Given the description of an element on the screen output the (x, y) to click on. 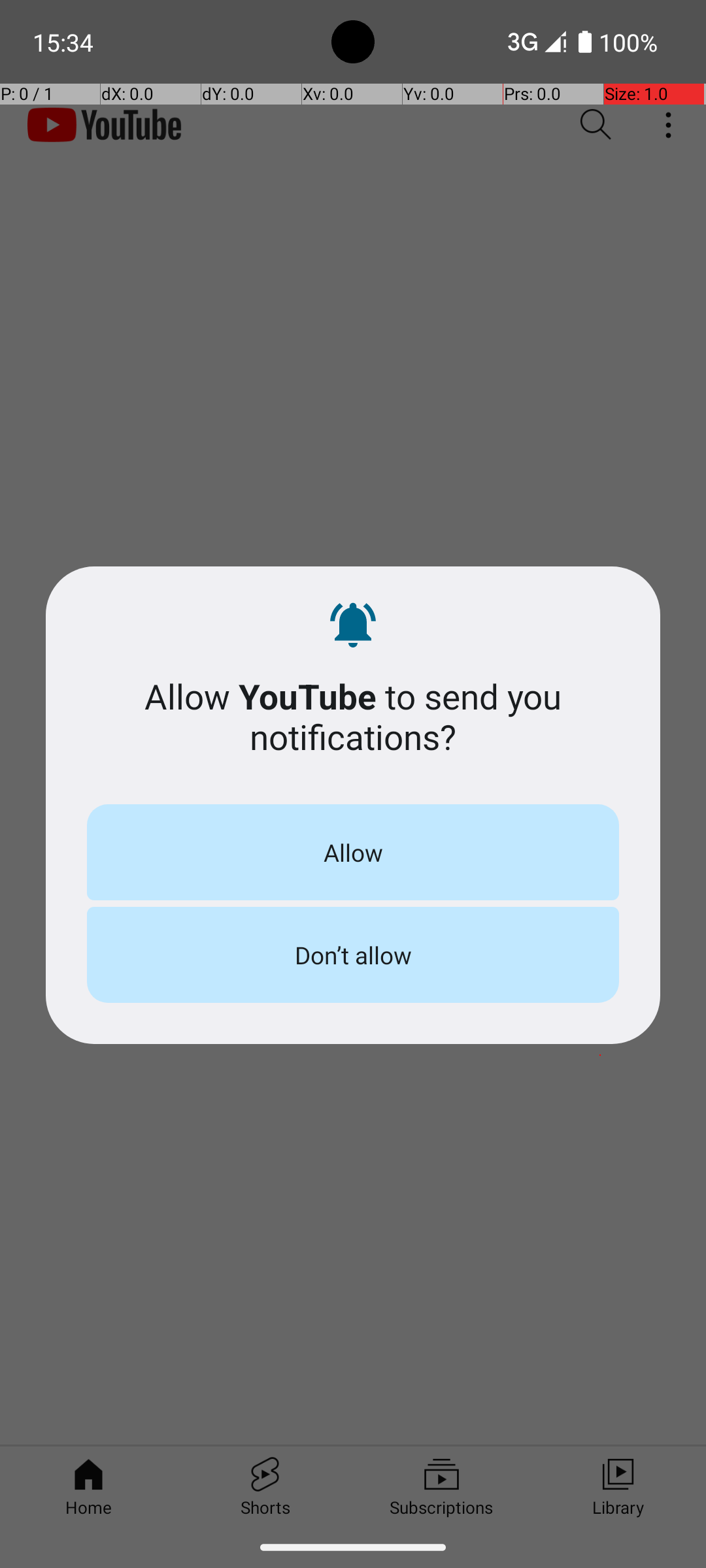
Allow YouTube to send you notifications? Element type: android.widget.TextView (352, 715)
Allow Element type: android.widget.Button (352, 852)
Don’t allow Element type: android.widget.Button (352, 954)
